Given the description of an element on the screen output the (x, y) to click on. 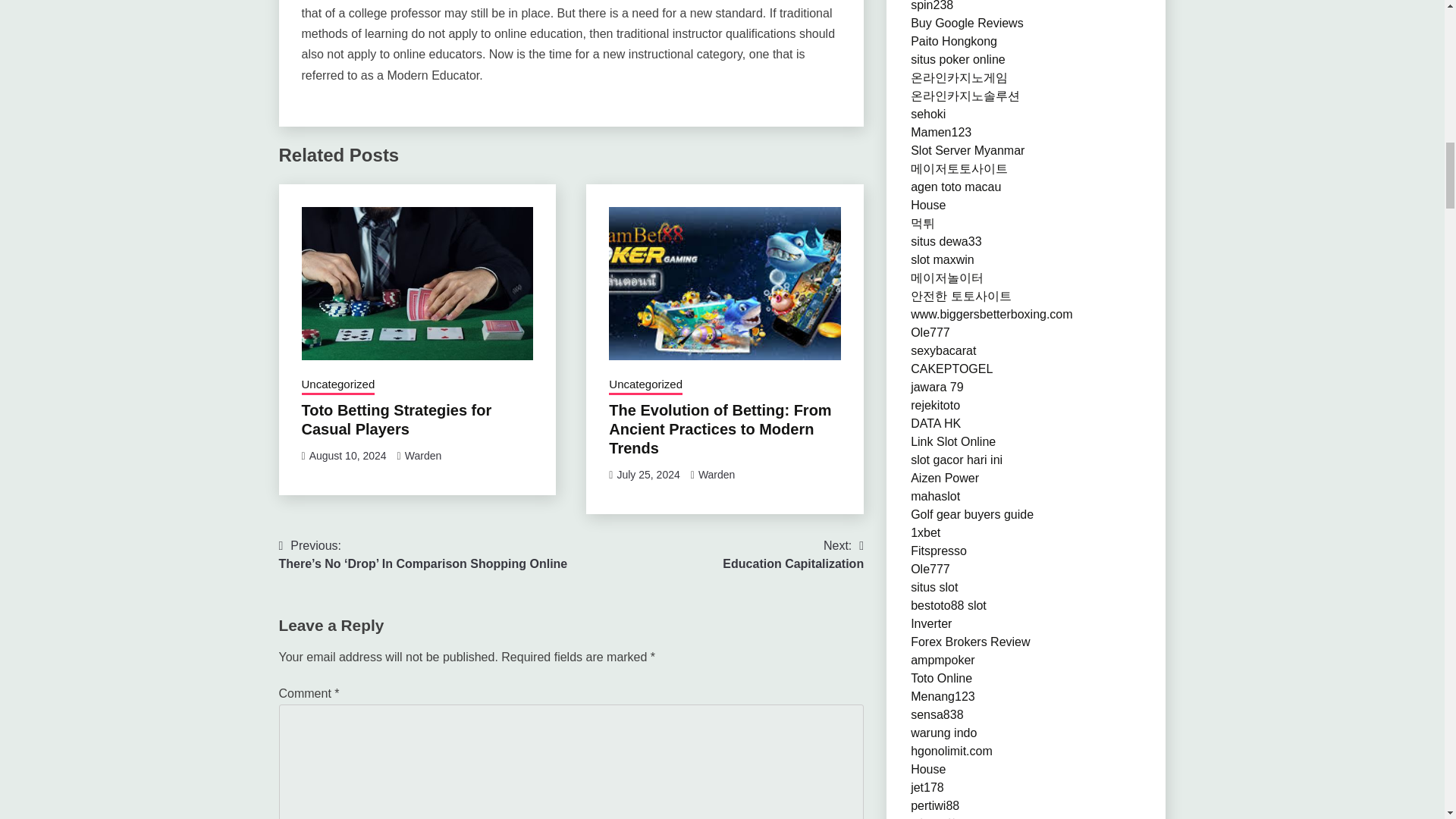
July 25, 2024 (647, 474)
1xbet (925, 532)
August 10, 2024 (347, 455)
Uncategorized (792, 555)
Uncategorized (645, 385)
Warden (338, 385)
Warden (716, 474)
Toto Betting Strategies for Casual Players (423, 455)
